Given the description of an element on the screen output the (x, y) to click on. 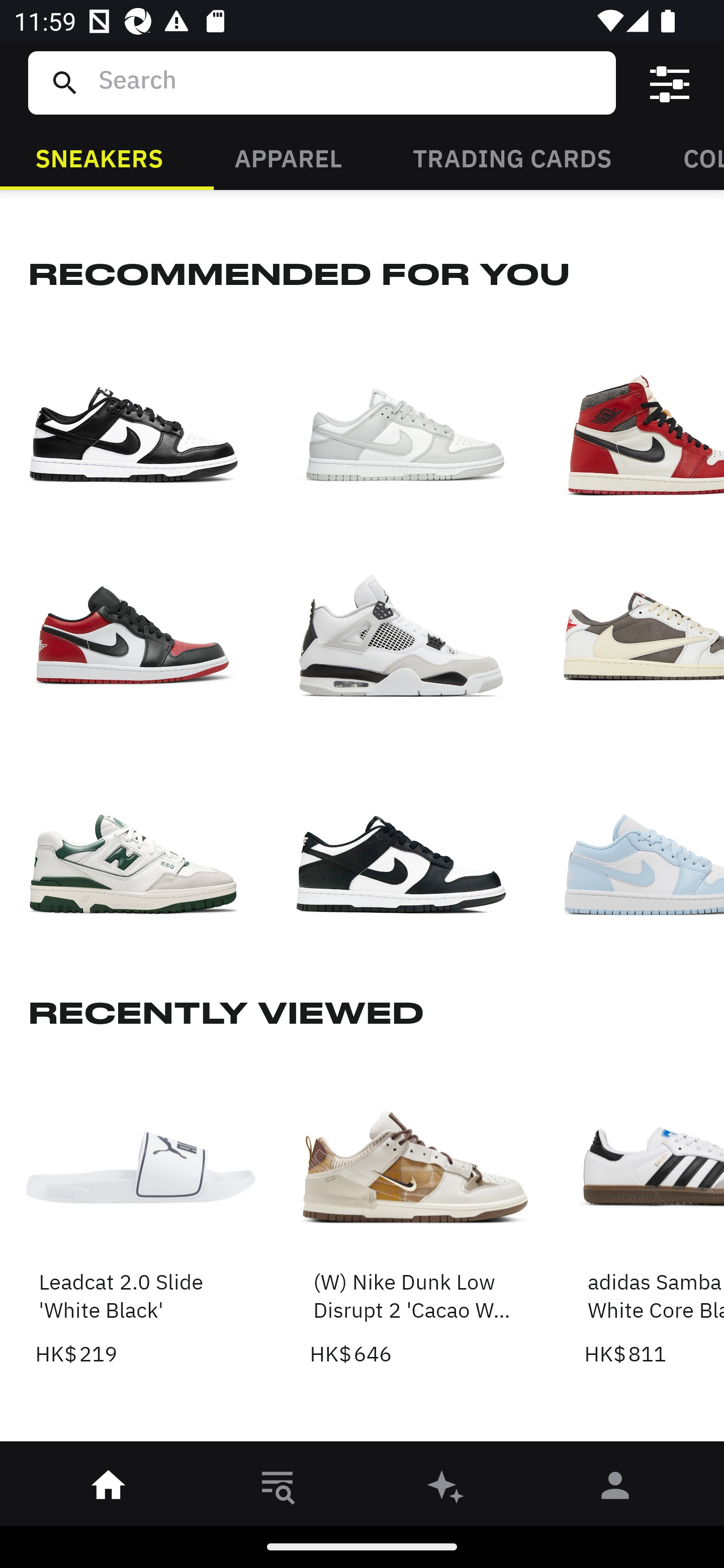
Search (349, 82)
 (669, 82)
SNEAKERS (99, 156)
APPAREL (287, 156)
TRADING CARDS (512, 156)
Leadcat 2.0 Slide 'White Black' HK$ 219 (140, 1211)
adidas Samba 'Cloud White Core Black' HK$ 811 (654, 1211)
󰋜 (108, 1488)
󱎸 (277, 1488)
󰫢 (446, 1488)
󰀄 (615, 1488)
